Given the description of an element on the screen output the (x, y) to click on. 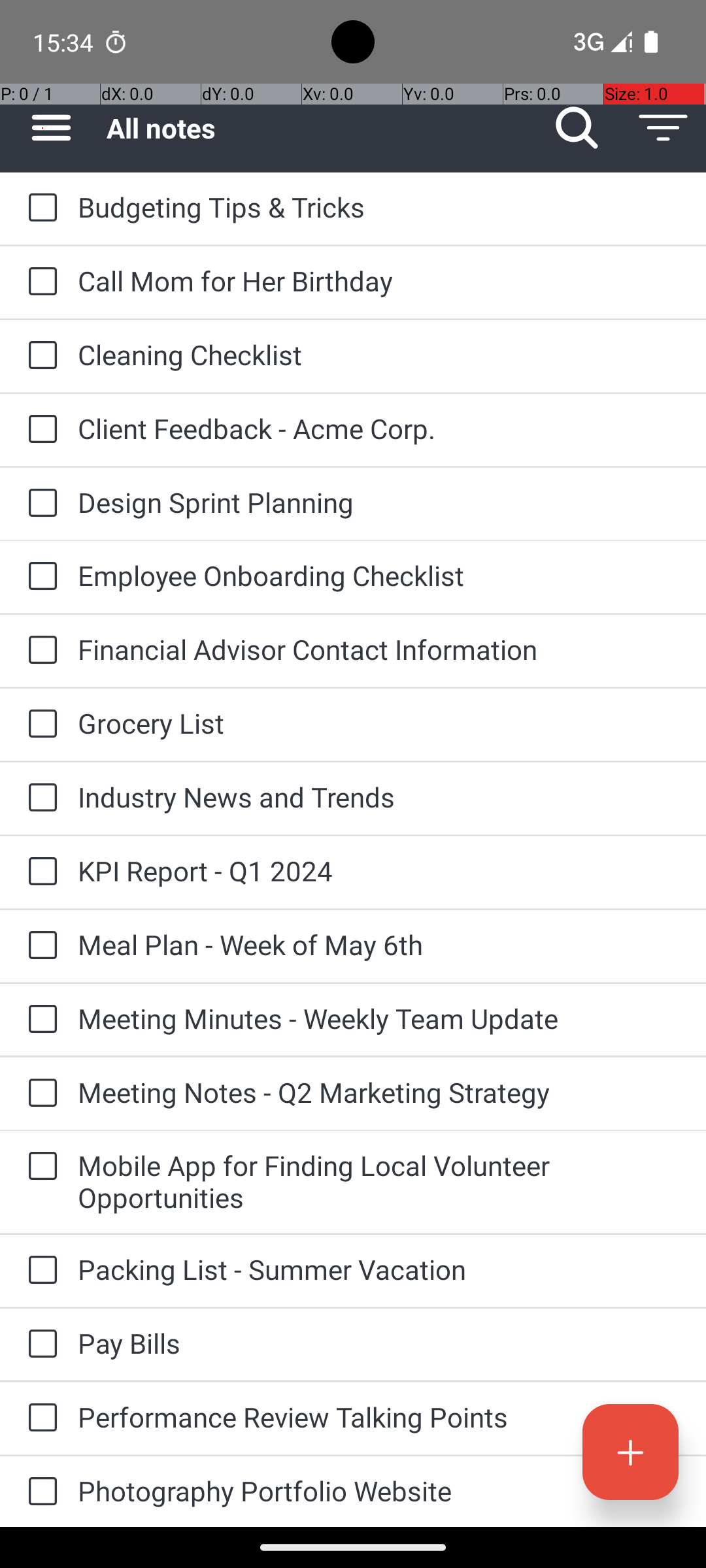
to-do: Budgeting Tips & Tricks Element type: android.widget.CheckBox (38, 208)
to-do: Call Mom for Her Birthday Element type: android.widget.CheckBox (38, 282)
Call Mom for Her Birthday Element type: android.widget.TextView (378, 280)
to-do: Cleaning Checklist Element type: android.widget.CheckBox (38, 356)
Cleaning Checklist Element type: android.widget.TextView (378, 354)
to-do: Client Feedback - Acme Corp. Element type: android.widget.CheckBox (38, 429)
Client Feedback - Acme Corp. Element type: android.widget.TextView (378, 427)
to-do: Design Sprint Planning Element type: android.widget.CheckBox (38, 503)
Design Sprint Planning Element type: android.widget.TextView (378, 501)
to-do: Employee Onboarding Checklist Element type: android.widget.CheckBox (38, 576)
Employee Onboarding Checklist Element type: android.widget.TextView (378, 574)
to-do: Grocery List Element type: android.widget.CheckBox (38, 724)
Grocery List Element type: android.widget.TextView (378, 722)
to-do: Industry News and Trends Element type: android.widget.CheckBox (38, 798)
Industry News and Trends Element type: android.widget.TextView (378, 796)
to-do: KPI Report - Q1 2024 Element type: android.widget.CheckBox (38, 872)
KPI Report - Q1 2024 Element type: android.widget.TextView (378, 870)
to-do: Meal Plan - Week of May 6th Element type: android.widget.CheckBox (38, 946)
Meal Plan - Week of May 6th Element type: android.widget.TextView (378, 944)
to-do: Meeting Minutes - Weekly Team Update Element type: android.widget.CheckBox (38, 1019)
Meeting Minutes - Weekly Team Update Element type: android.widget.TextView (378, 1017)
to-do: Meeting Notes - Q2 Marketing Strategy Element type: android.widget.CheckBox (38, 1093)
Meeting Notes - Q2 Marketing Strategy Element type: android.widget.TextView (378, 1091)
to-do: Mobile App for Finding Local Volunteer Opportunities Element type: android.widget.CheckBox (38, 1166)
Mobile App for Finding Local Volunteer Opportunities Element type: android.widget.TextView (378, 1180)
to-do: Packing List - Summer Vacation Element type: android.widget.CheckBox (38, 1270)
Packing List - Summer Vacation Element type: android.widget.TextView (378, 1268)
to-do: Pay Bills Element type: android.widget.CheckBox (38, 1344)
Pay Bills Element type: android.widget.TextView (378, 1342)
to-do: Performance Review Talking Points Element type: android.widget.CheckBox (38, 1418)
Performance Review Talking Points Element type: android.widget.TextView (378, 1416)
to-do: Photography Portfolio Website Element type: android.widget.CheckBox (38, 1491)
Photography Portfolio Website Element type: android.widget.TextView (378, 1490)
